Given the description of an element on the screen output the (x, y) to click on. 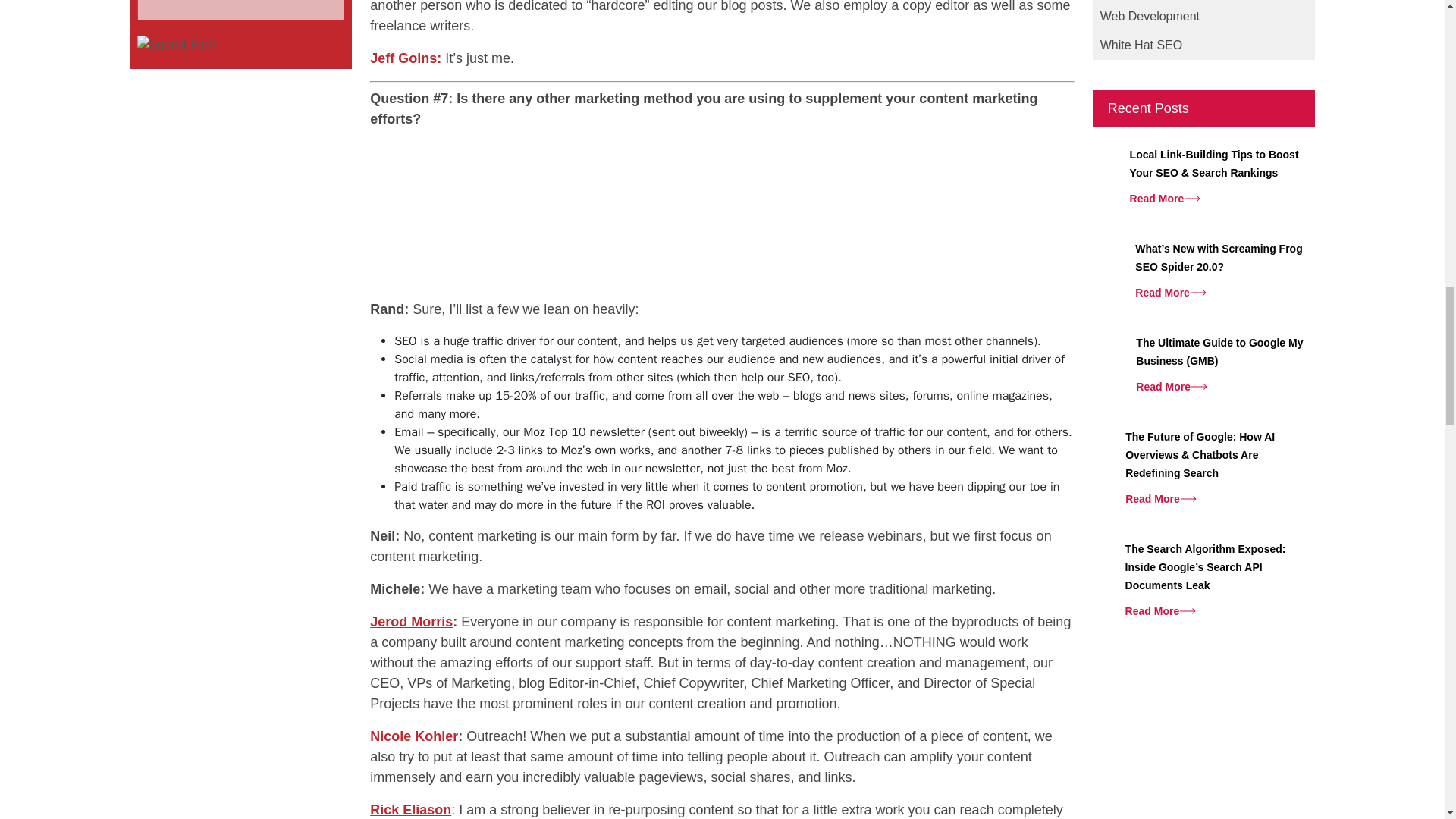
Rick Eliason (410, 809)
Jerod Morris (410, 621)
Nicole Kohler (413, 735)
Jeff Goins (405, 58)
